Given the description of an element on the screen output the (x, y) to click on. 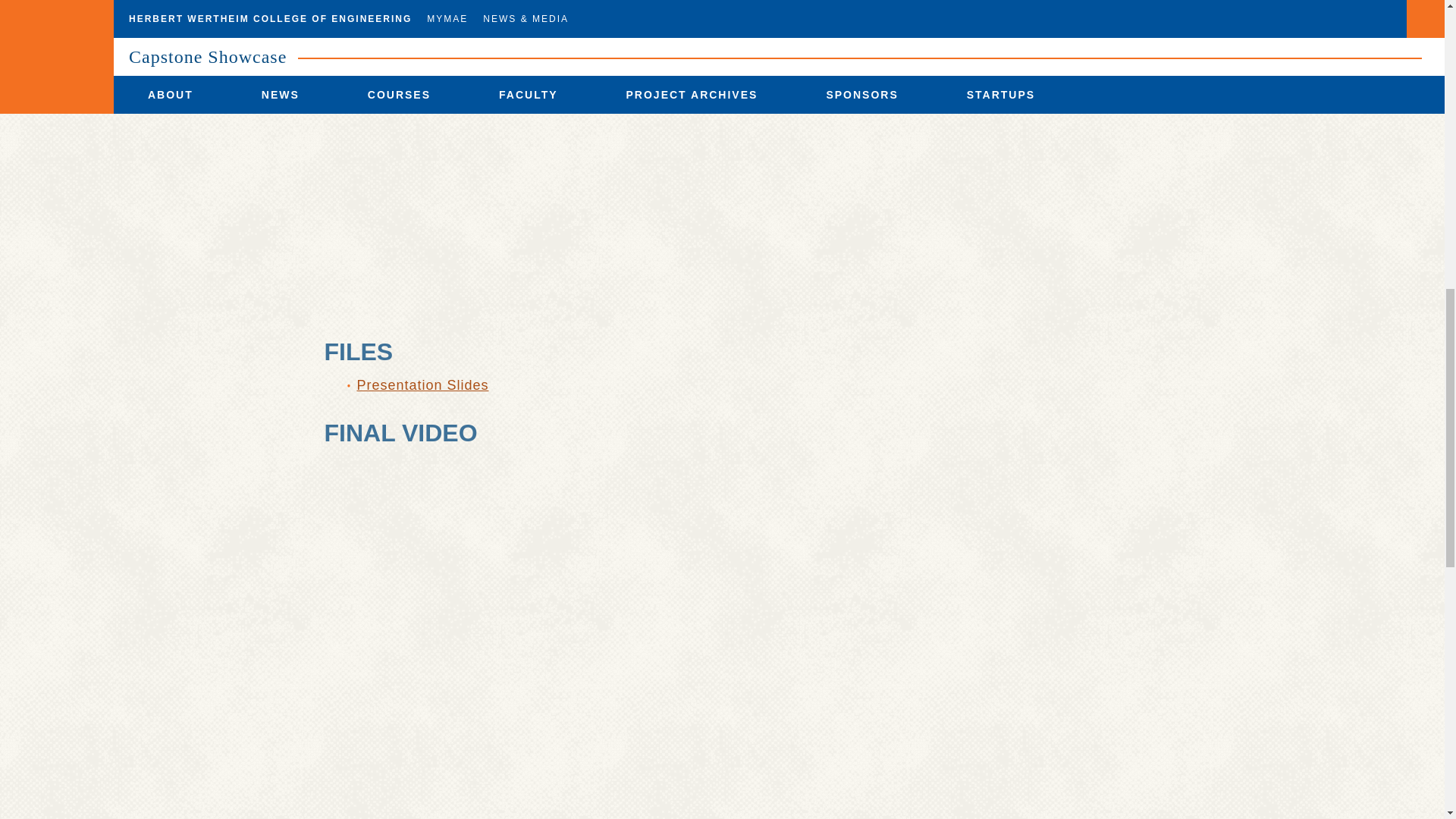
Presentation Slides (421, 385)
